Given the description of an element on the screen output the (x, y) to click on. 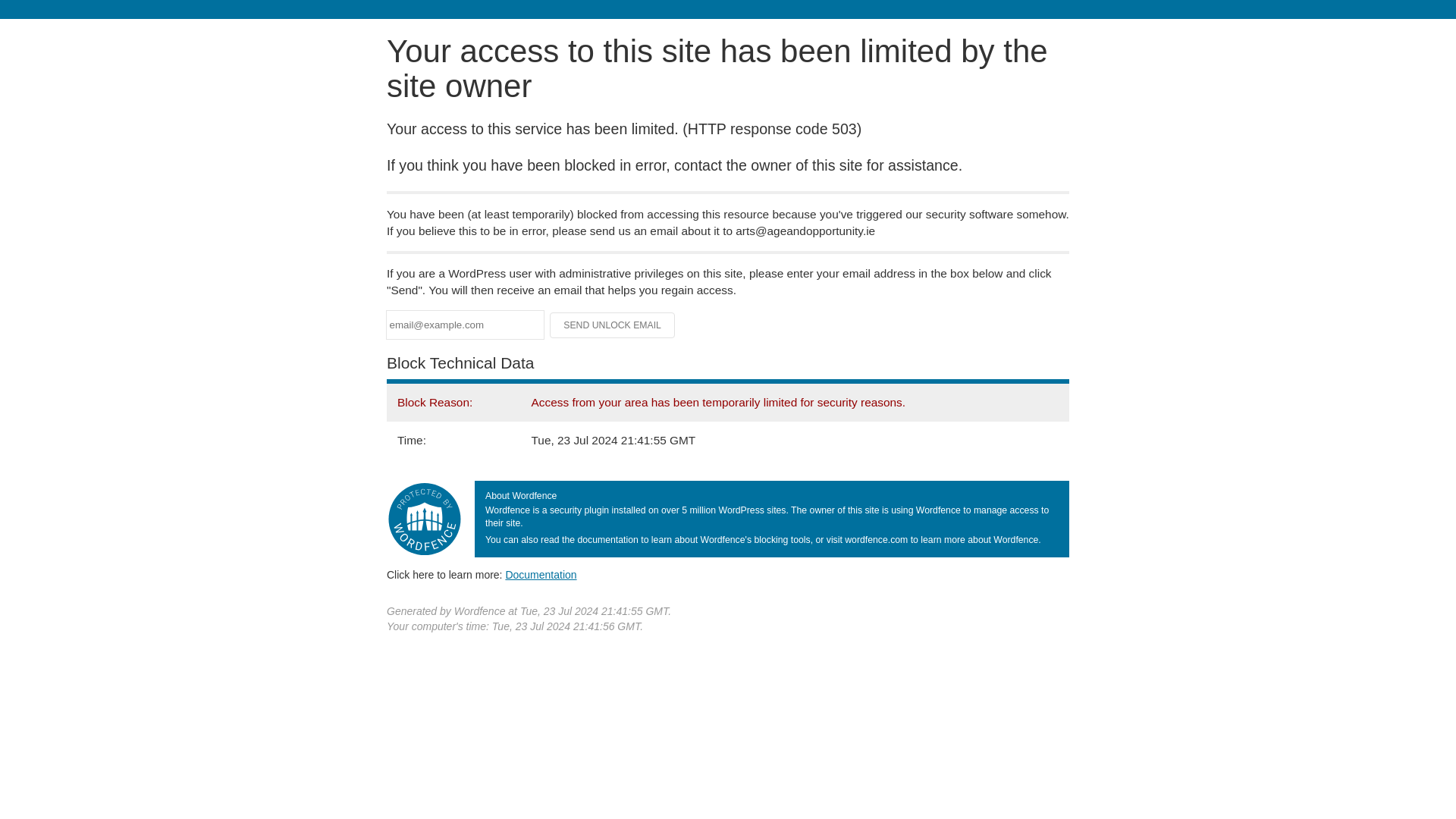
Send Unlock Email (612, 325)
Documentation (540, 574)
Send Unlock Email (612, 325)
